Given the description of an element on the screen output the (x, y) to click on. 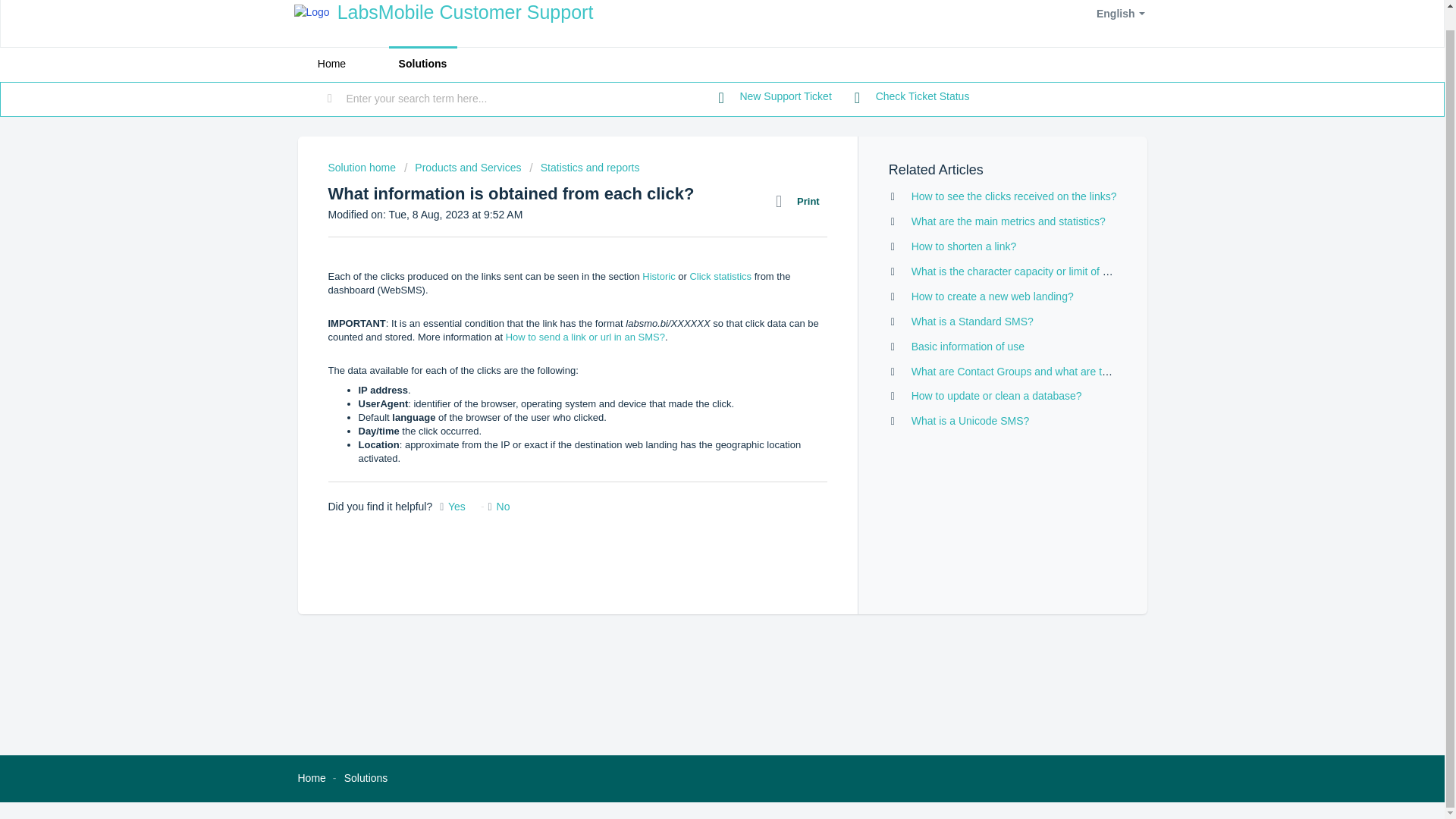
Check ticket status (911, 96)
Home (331, 63)
What is a Unicode SMS? (970, 420)
Chat (1406, 759)
Products and Services (462, 167)
Solutions (365, 777)
Print this Article (801, 201)
Print (801, 201)
How to shorten a link? (963, 246)
Home (310, 777)
